Given the description of an element on the screen output the (x, y) to click on. 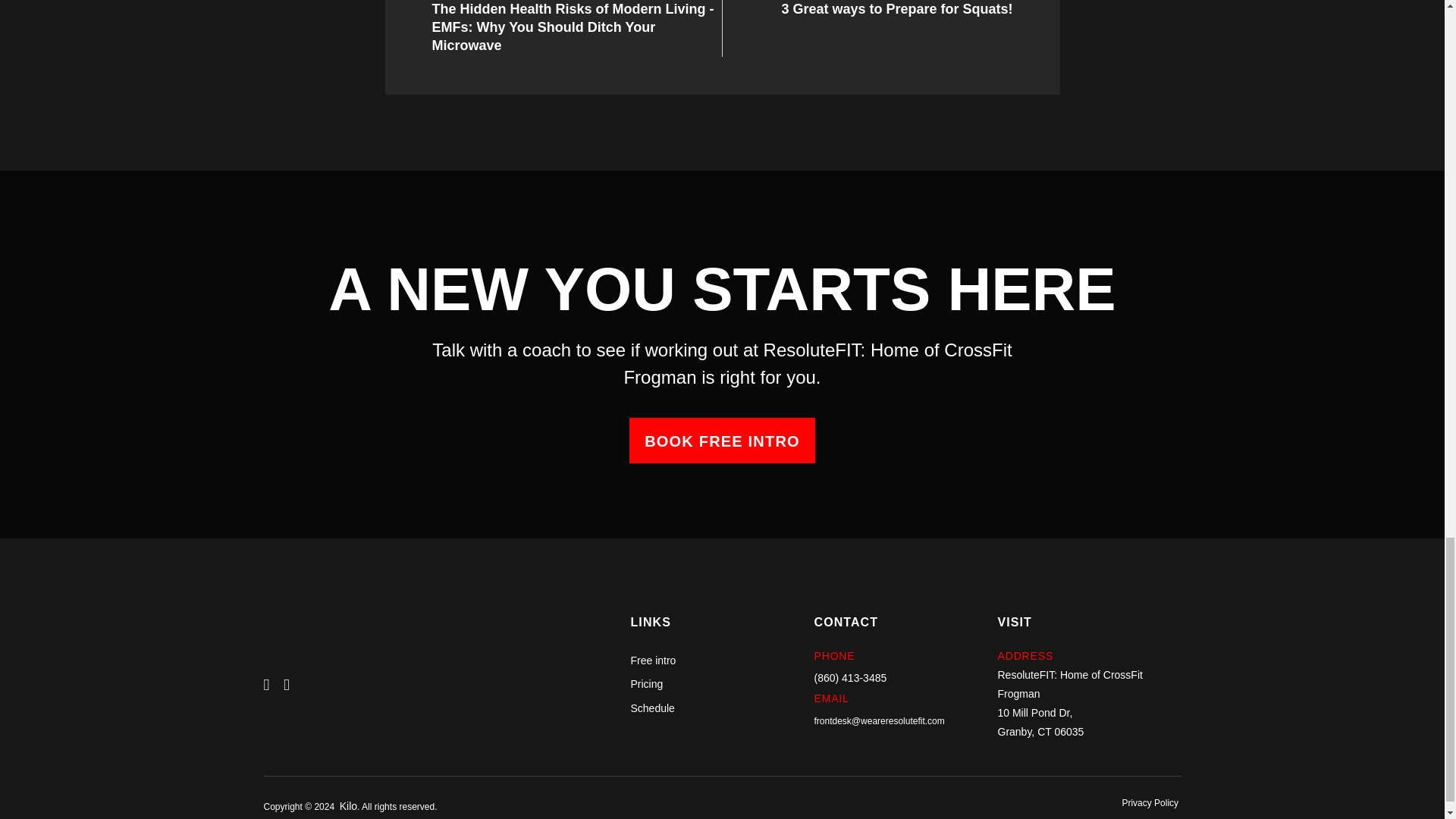
3 Great ways to Prepare for Squats! (895, 9)
BOOK FREE INTRO (895, 9)
